Given the description of an element on the screen output the (x, y) to click on. 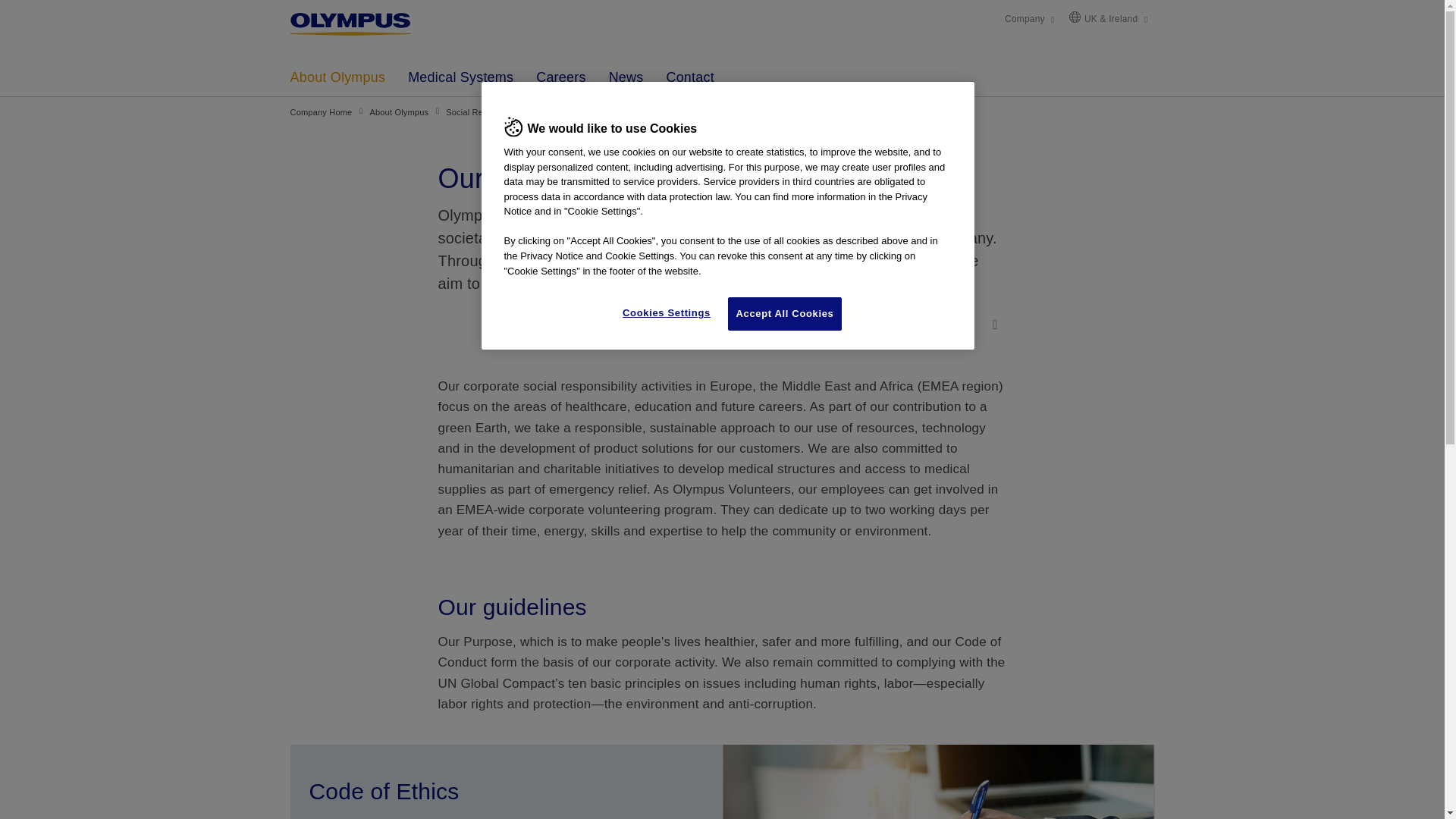
Olympus (374, 23)
Company (1029, 18)
About Olympus (338, 77)
